Given the description of an element on the screen output the (x, y) to click on. 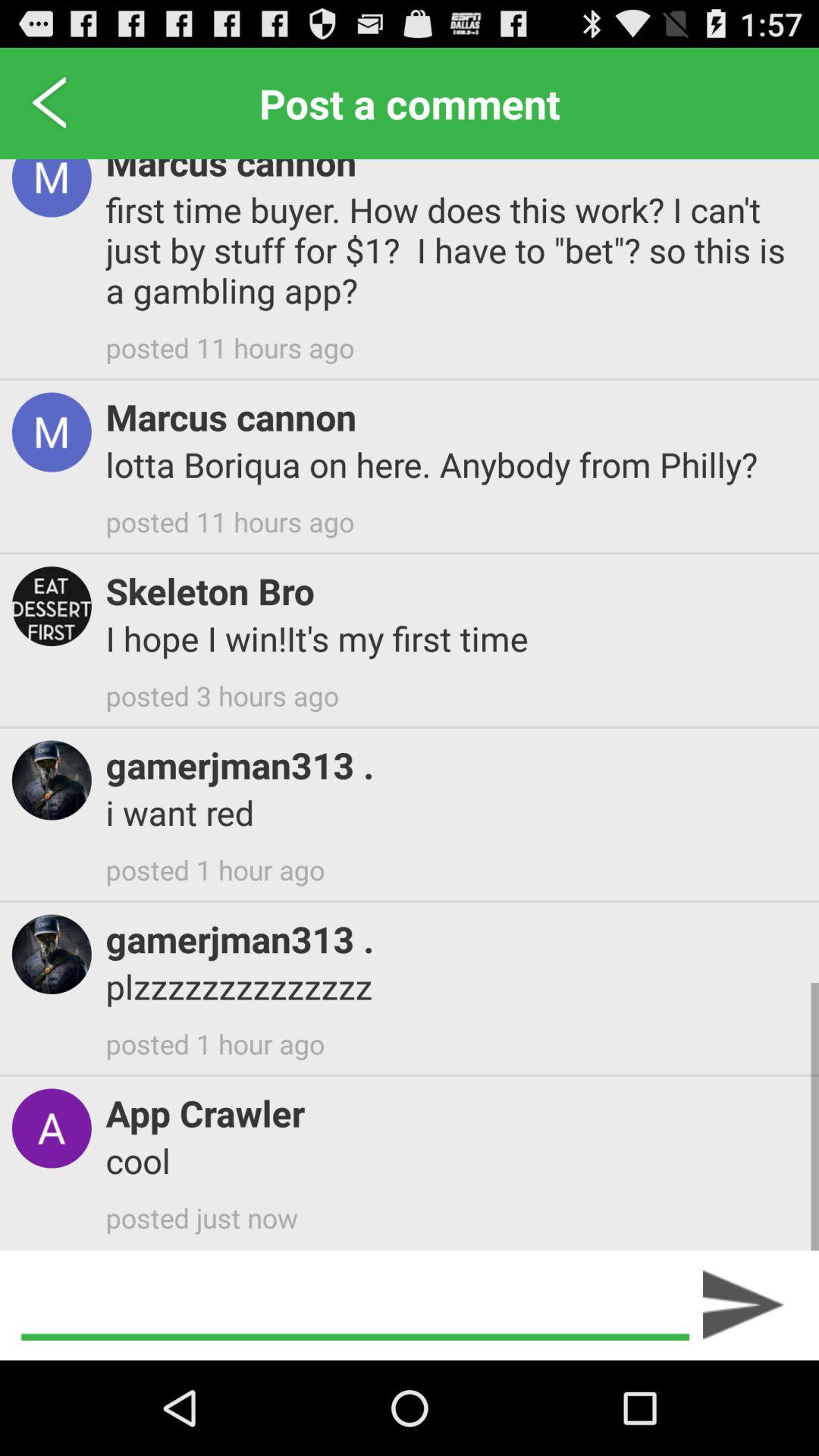
launch icon to the left of marcus cannon (49, 102)
